Given the description of an element on the screen output the (x, y) to click on. 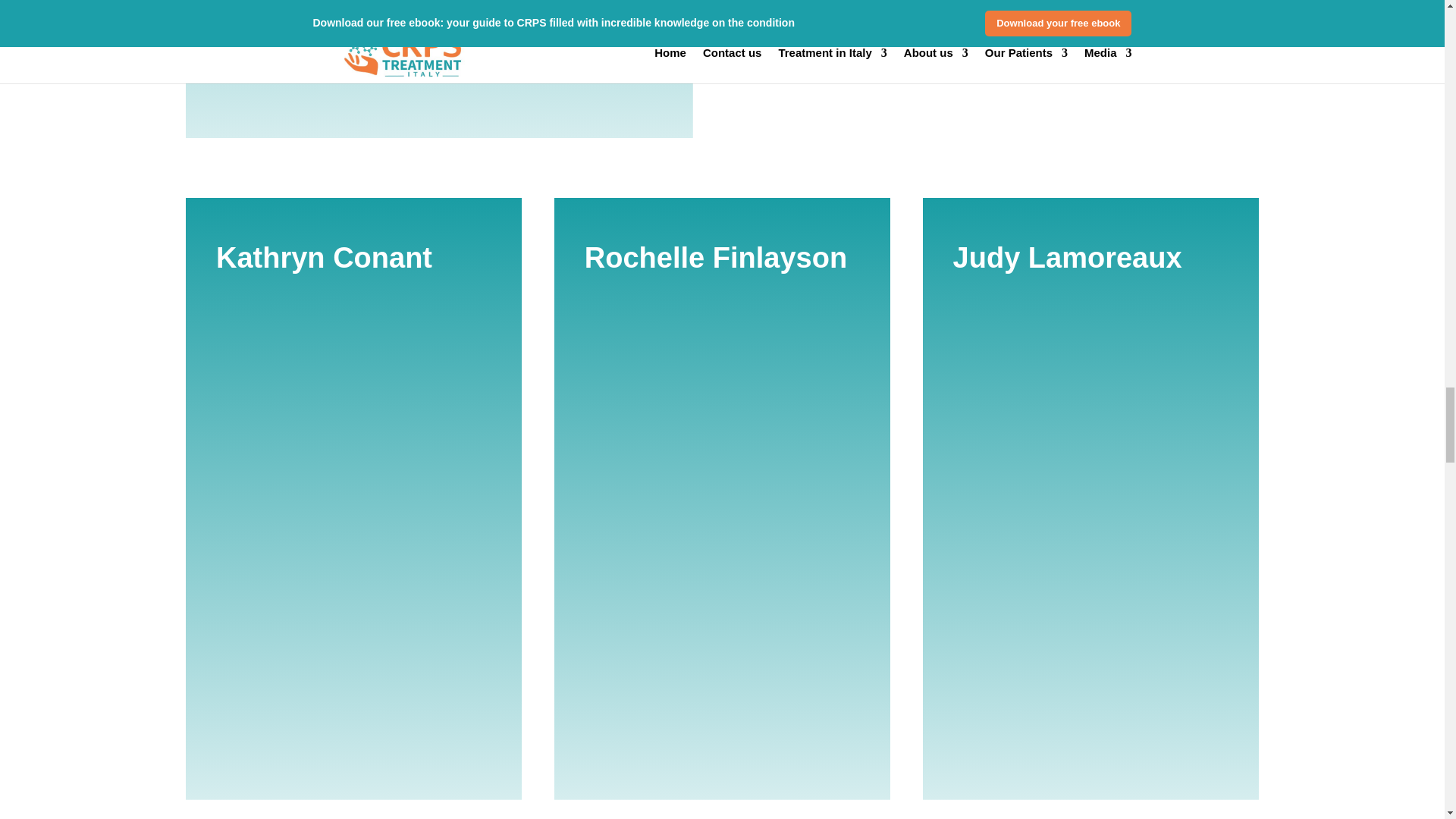
CRPS Remission Patient - Carole Zarkovacki (438, 46)
